Given the description of an element on the screen output the (x, y) to click on. 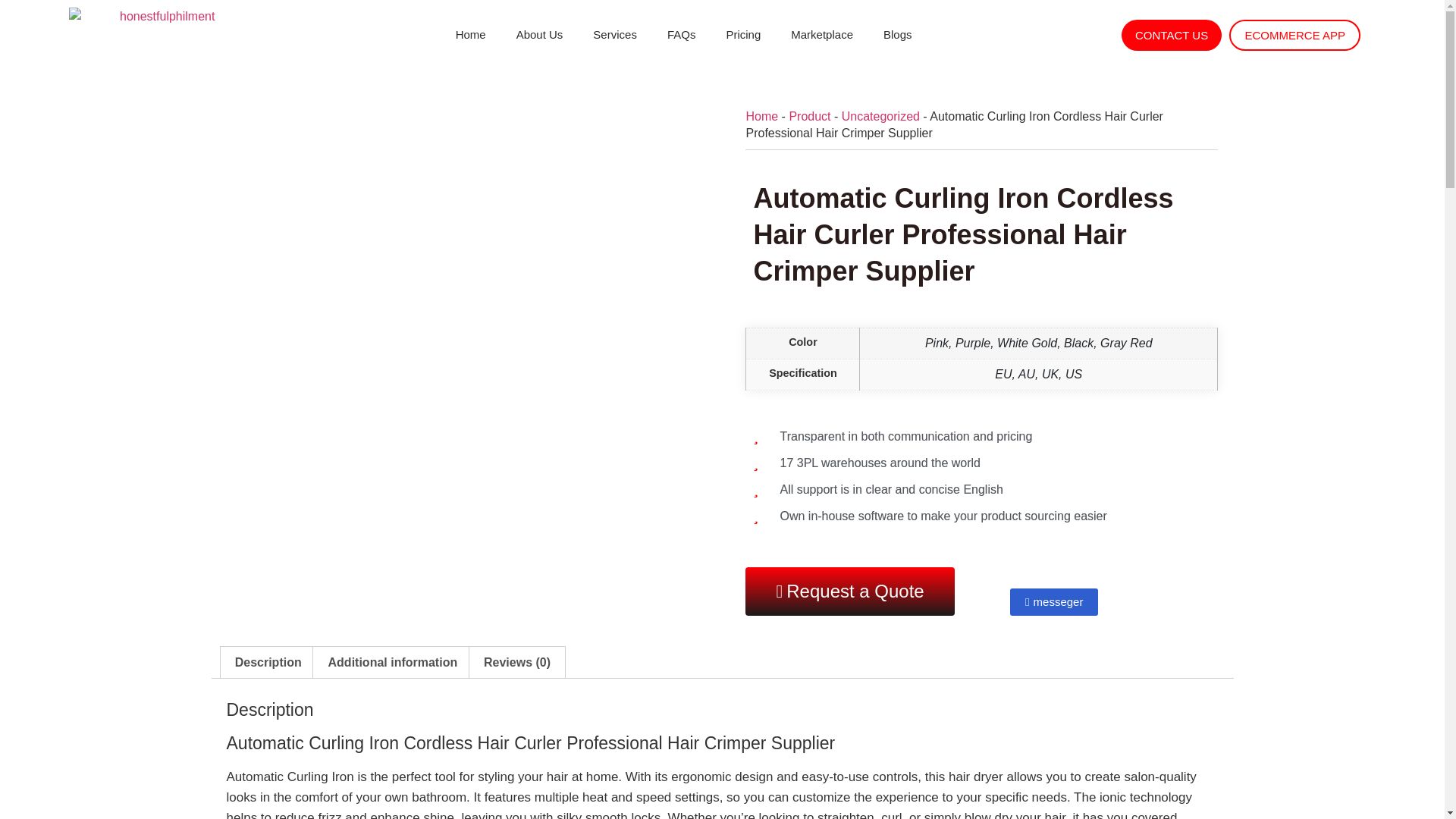
Pricing (743, 34)
Home (470, 34)
Blogs (897, 34)
FAQs (681, 34)
Services (615, 34)
Marketplace (821, 34)
About Us (539, 34)
